Given the description of an element on the screen output the (x, y) to click on. 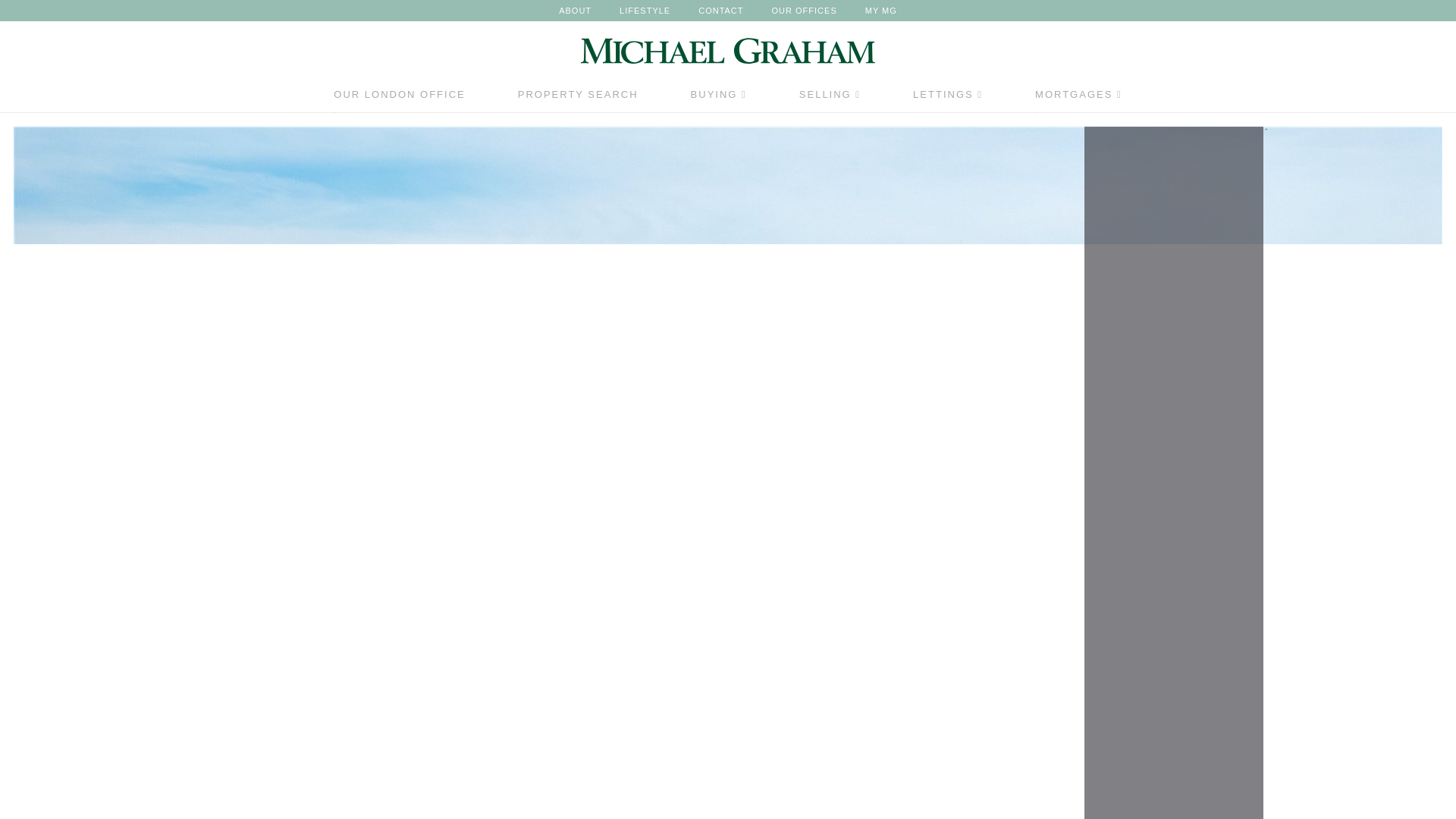
CONTACT (720, 10)
MY MG (880, 10)
SELLING (829, 99)
BUYING (718, 99)
PROPERTY SEARCH (578, 99)
OUR LONDON OFFICE (398, 99)
MORTGAGES (1078, 99)
OUR OFFICES (804, 10)
LETTINGS (947, 99)
LIFESTYLE (644, 10)
ABOUT (575, 10)
